Given the description of an element on the screen output the (x, y) to click on. 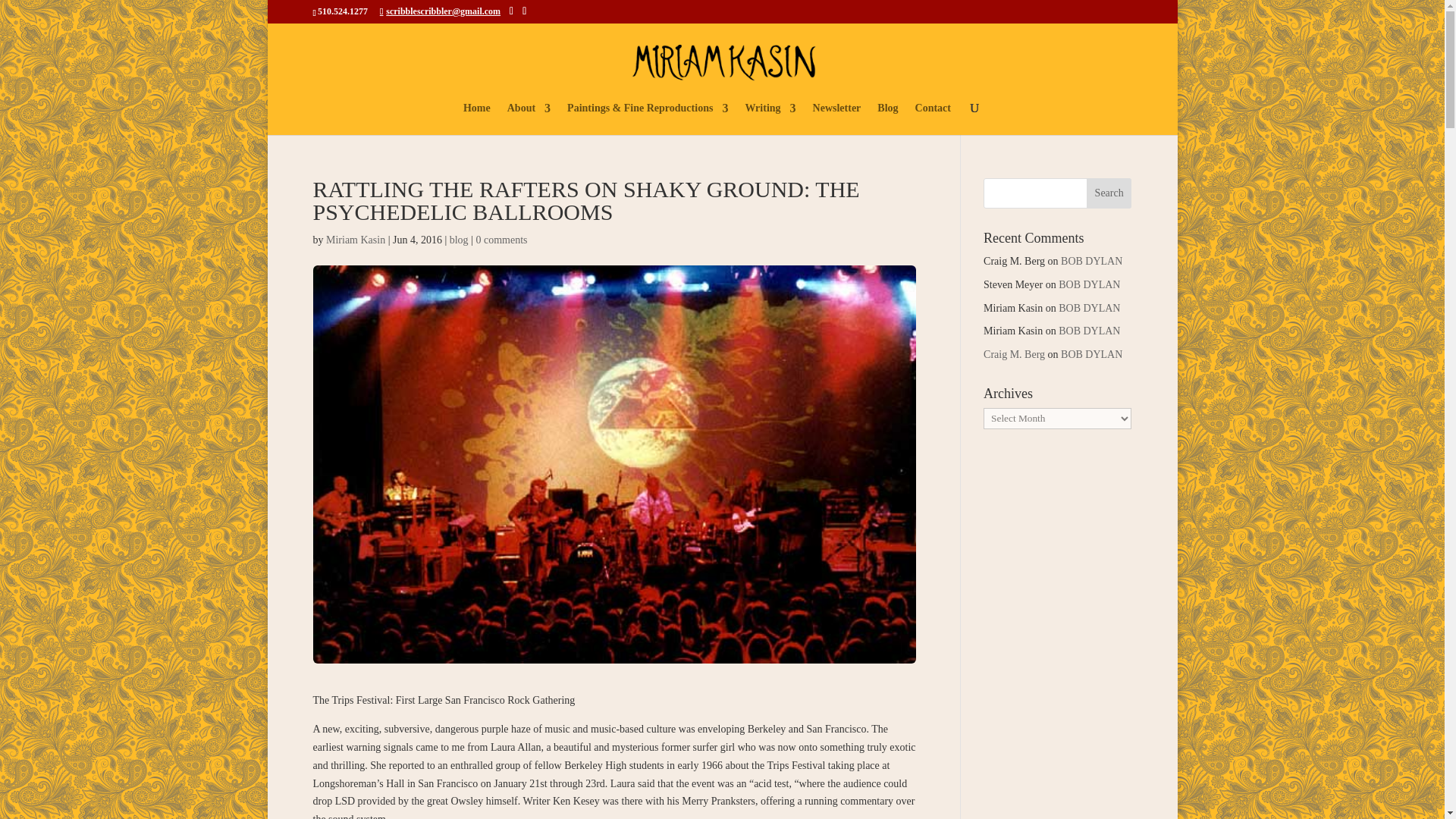
Posts by Miriam Kasin (355, 239)
0 comments (501, 239)
blog (458, 239)
Miriam Kasin (355, 239)
Search (1109, 193)
About (528, 119)
Writing (769, 119)
Contact (932, 119)
Newsletter (836, 119)
